Given the description of an element on the screen output the (x, y) to click on. 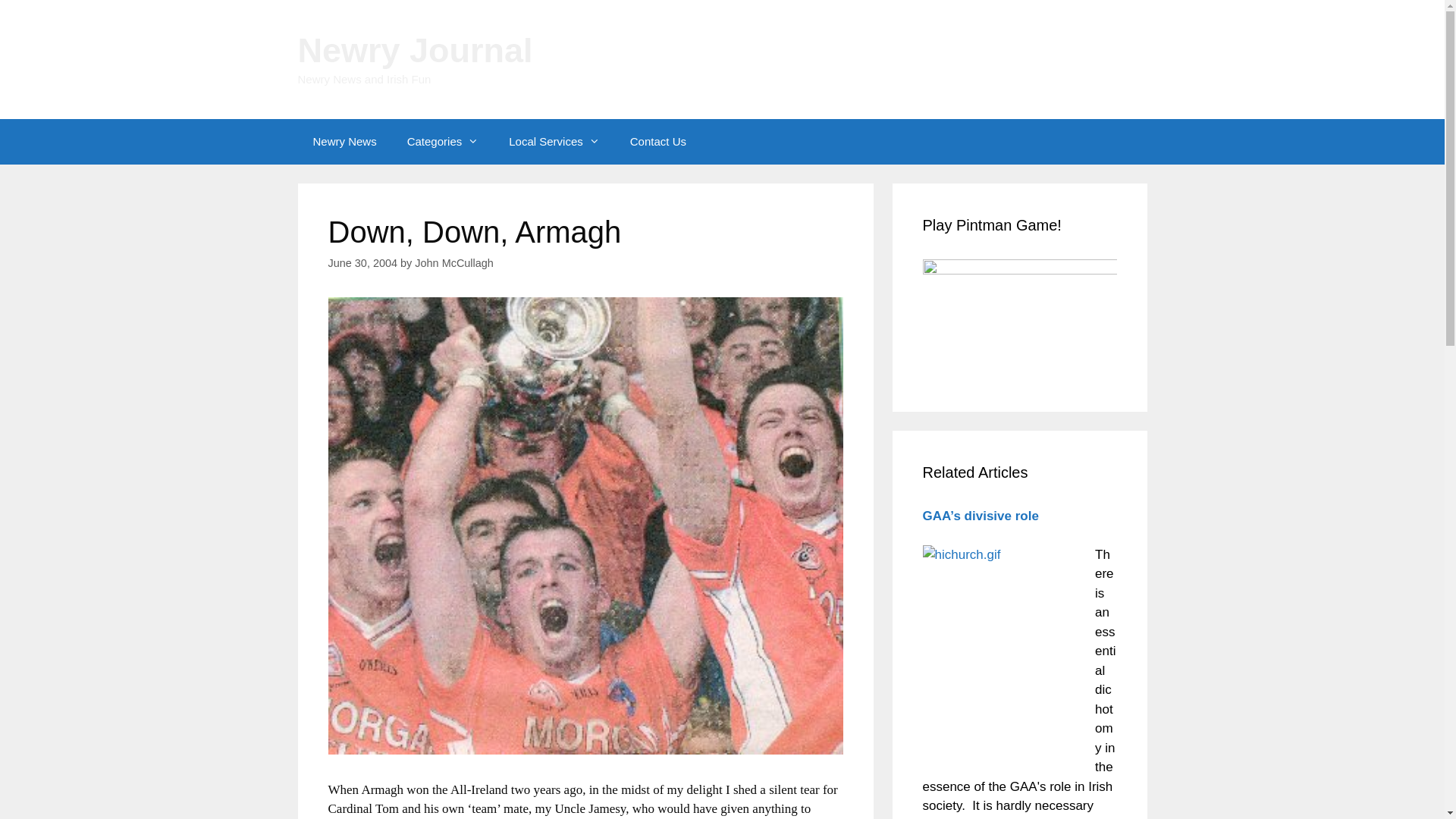
View all posts by John McCullagh (453, 263)
Newry Journal (414, 50)
Newry News (344, 140)
Categories (443, 140)
